Given the description of an element on the screen output the (x, y) to click on. 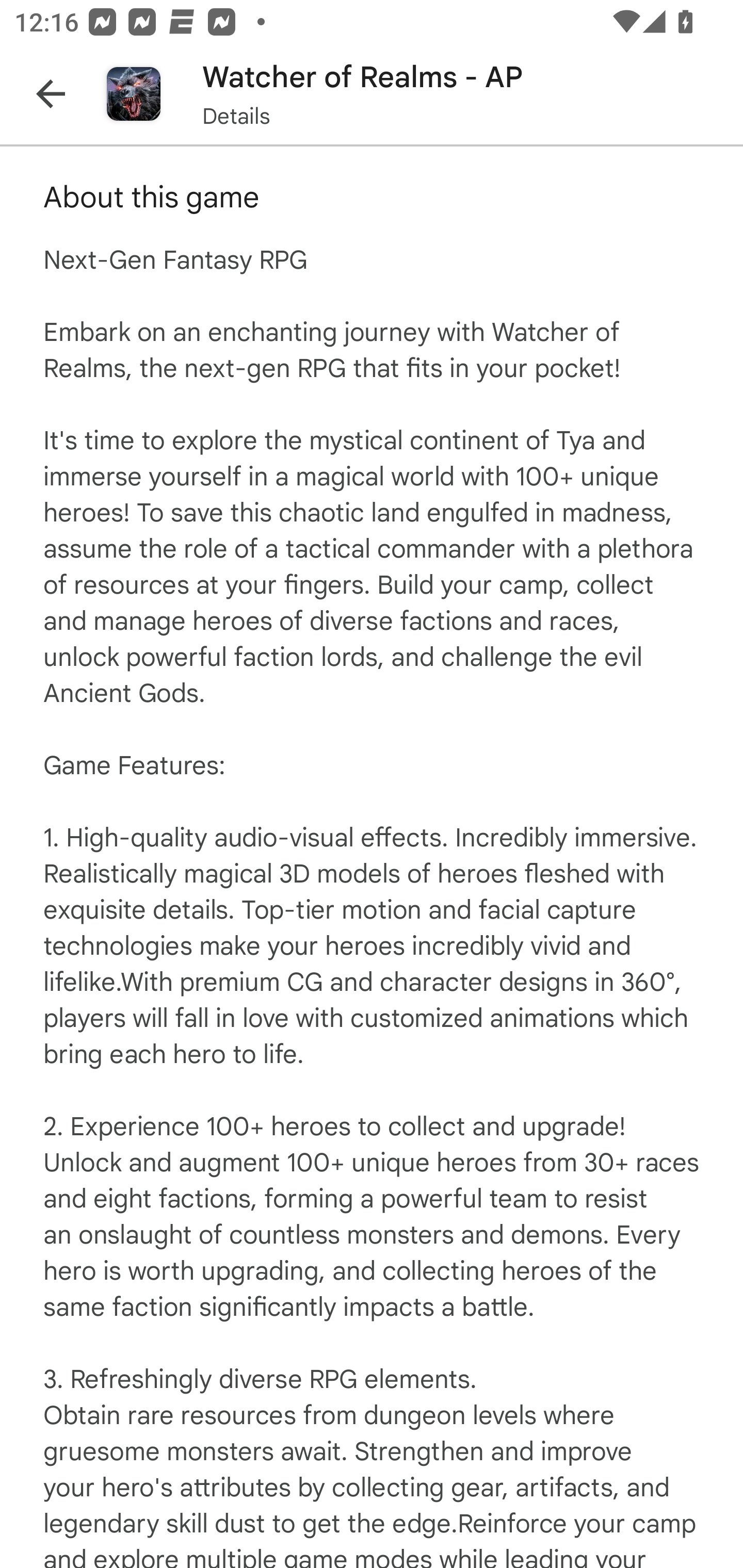
Navigate up (50, 93)
